Given the description of an element on the screen output the (x, y) to click on. 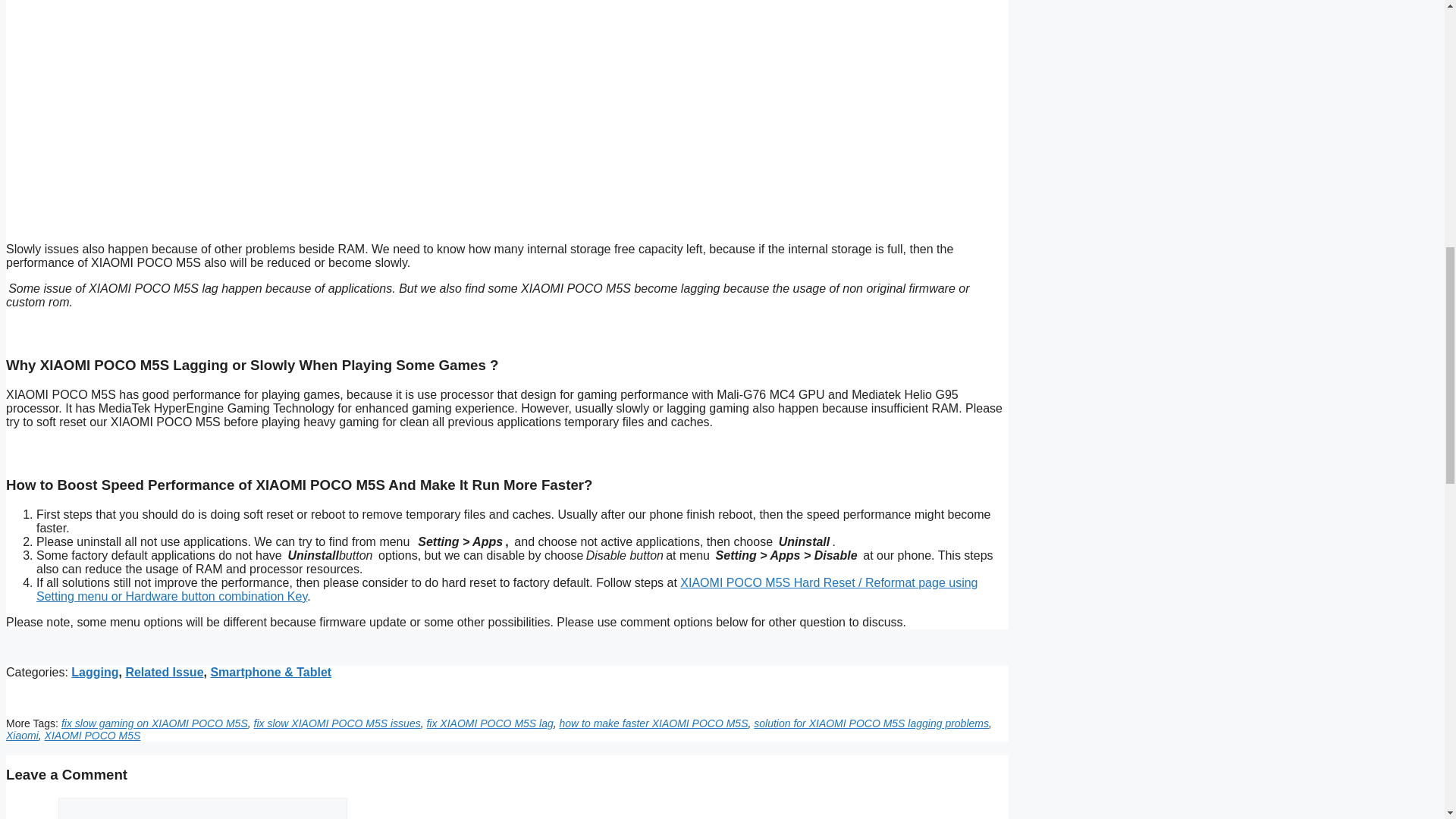
fix slow XIAOMI POCO M5S issues (336, 723)
Lagging (94, 671)
how to make faster XIAOMI POCO M5S (653, 723)
Related Issue (164, 671)
fix XIAOMI POCO M5S lag (489, 723)
solution for XIAOMI POCO M5S lagging problems (871, 723)
XIAOMI POCO M5S (93, 735)
fix slow gaming on XIAOMI POCO M5S (154, 723)
Xiaomi (22, 735)
